Given the description of an element on the screen output the (x, y) to click on. 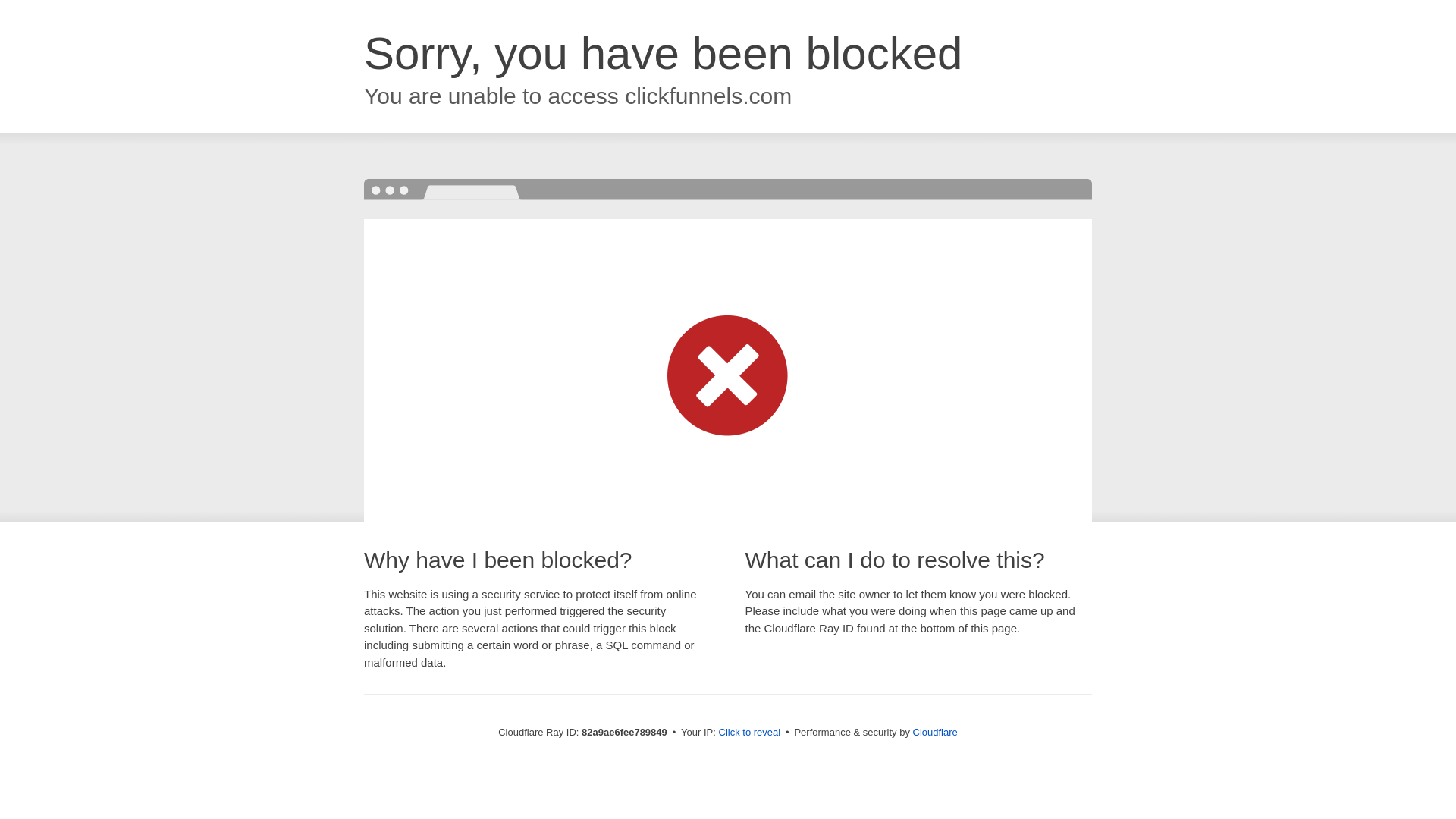
Cloudflare Element type: text (935, 731)
Click to reveal Element type: text (749, 732)
